Given the description of an element on the screen output the (x, y) to click on. 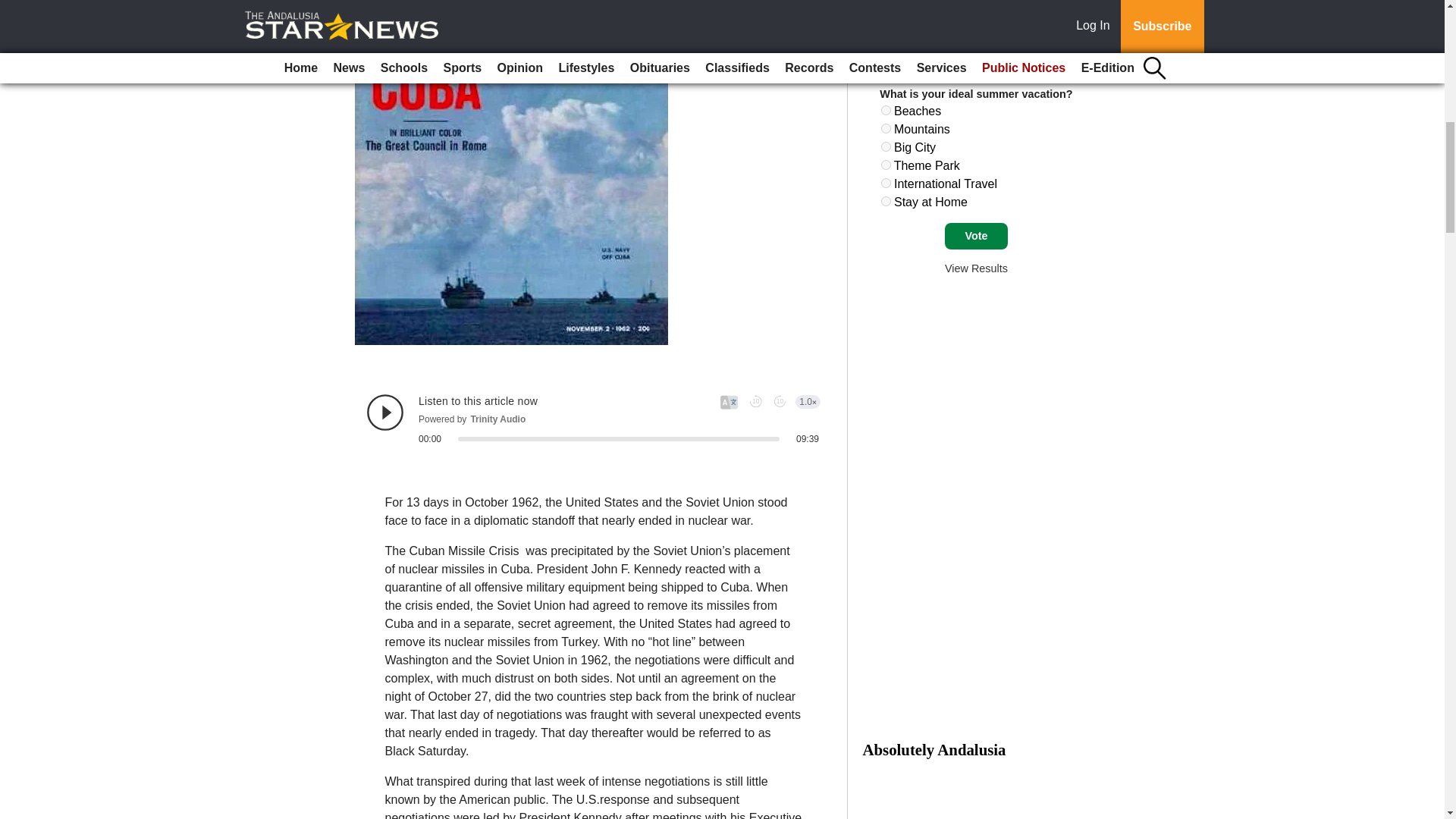
744 (885, 110)
View Results Of This Poll (975, 268)
745 (885, 128)
748 (885, 183)
View Results (975, 268)
749 (885, 201)
747 (885, 164)
Trinity Audio Player (592, 419)
746 (885, 146)
   Vote    (975, 236)
